Given the description of an element on the screen output the (x, y) to click on. 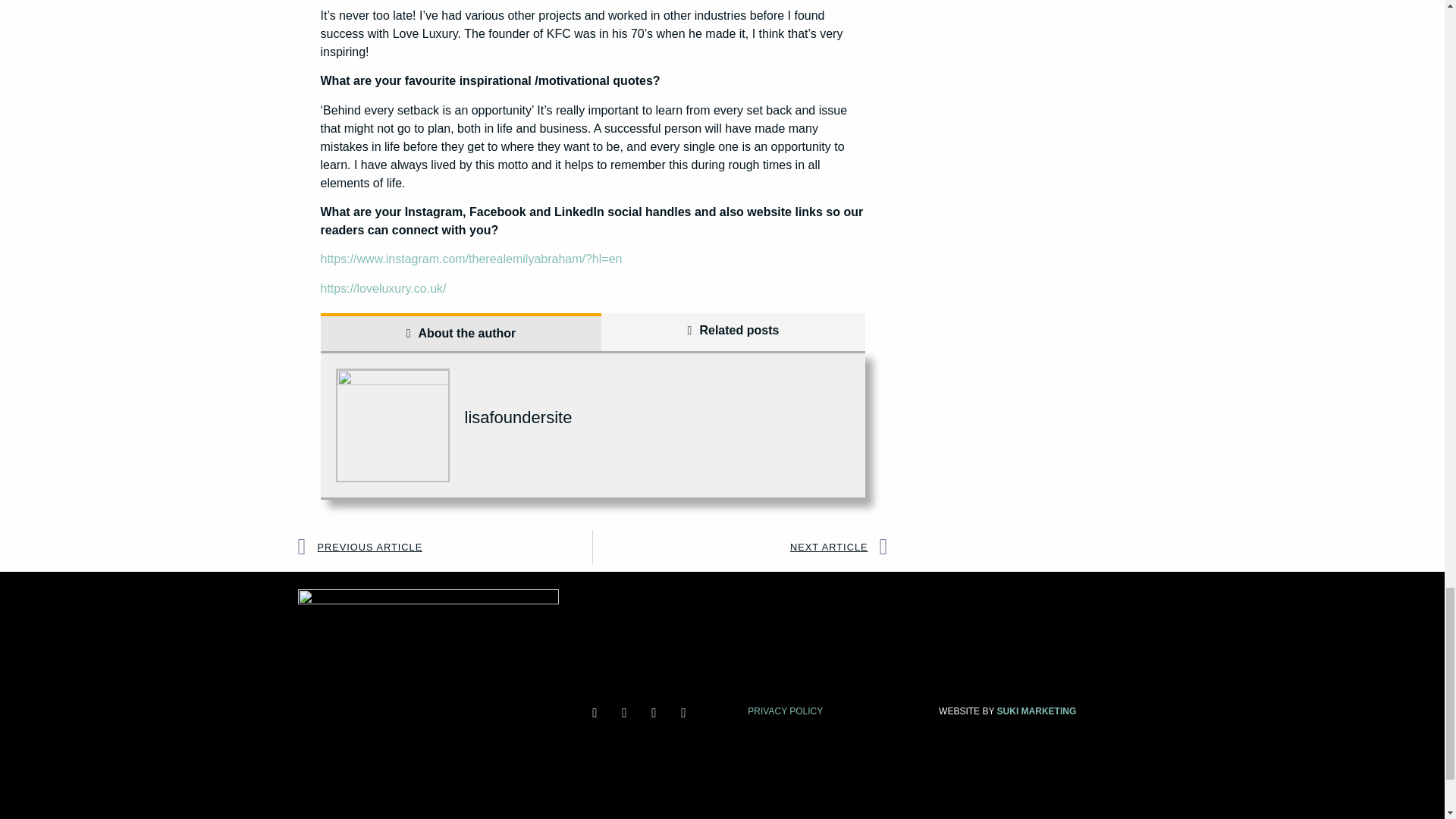
lisafoundersite (518, 416)
